Given the description of an element on the screen output the (x, y) to click on. 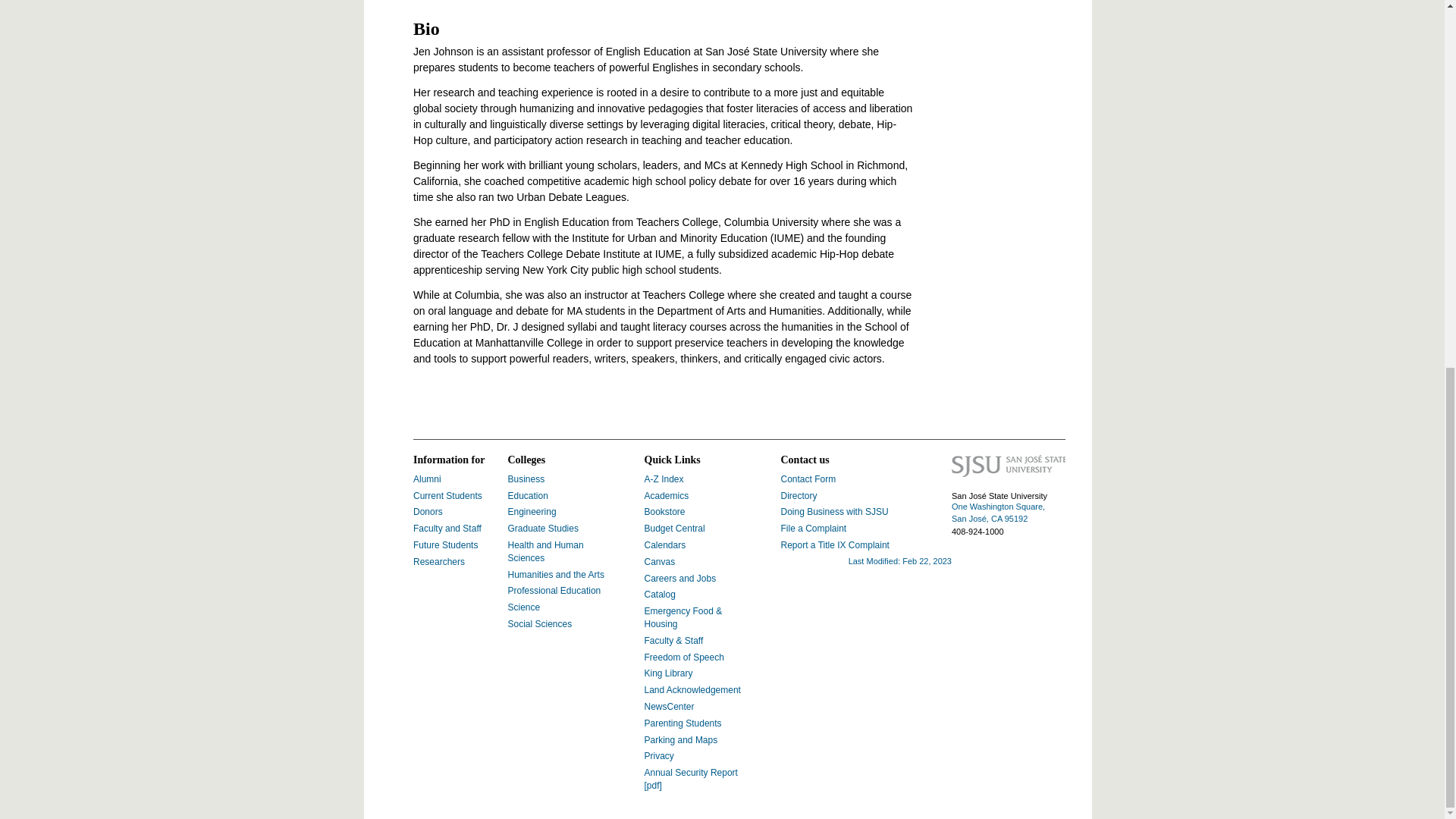
Canvas (660, 561)
Health and Human Sciences (545, 551)
Business (526, 479)
Social Sciences (540, 624)
Alumni (427, 479)
Budget Central (674, 528)
Current Students (447, 495)
Engineering (532, 511)
Professional Education (554, 590)
Bookstore (665, 511)
Donors (427, 511)
Academics (666, 495)
Humanities and the Arts (556, 574)
Education (528, 495)
Faculty and Staff (447, 528)
